Given the description of an element on the screen output the (x, y) to click on. 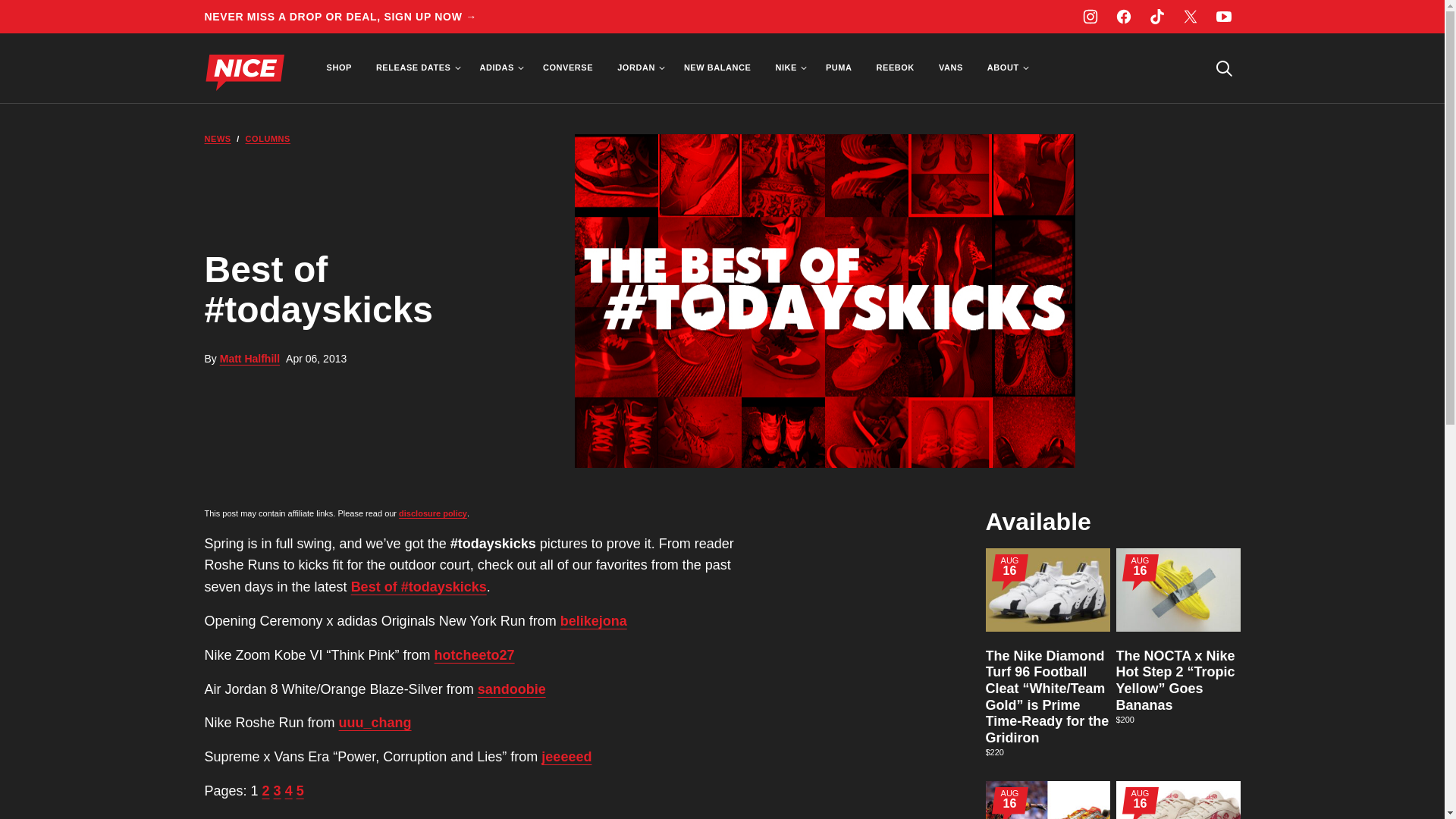
JORDAN (638, 67)
ADIDAS (499, 67)
RELEASE DATES (415, 67)
SHOP (338, 67)
NEW BALANCE (716, 67)
CONVERSE (568, 67)
